Given the description of an element on the screen output the (x, y) to click on. 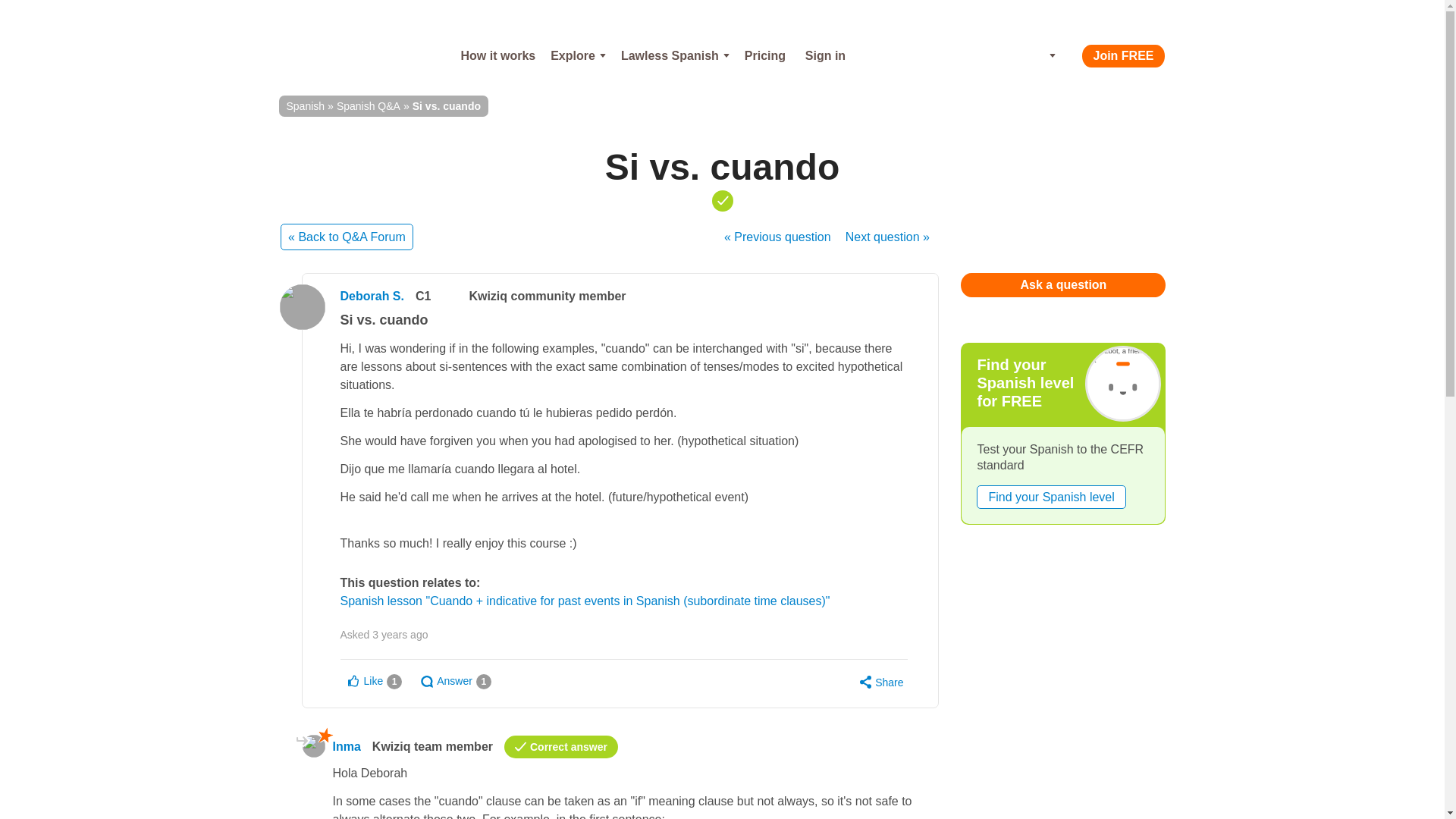
Lawless Spanish (674, 56)
Explore (577, 56)
How it works (497, 56)
8th February 2021 (400, 634)
